Given the description of an element on the screen output the (x, y) to click on. 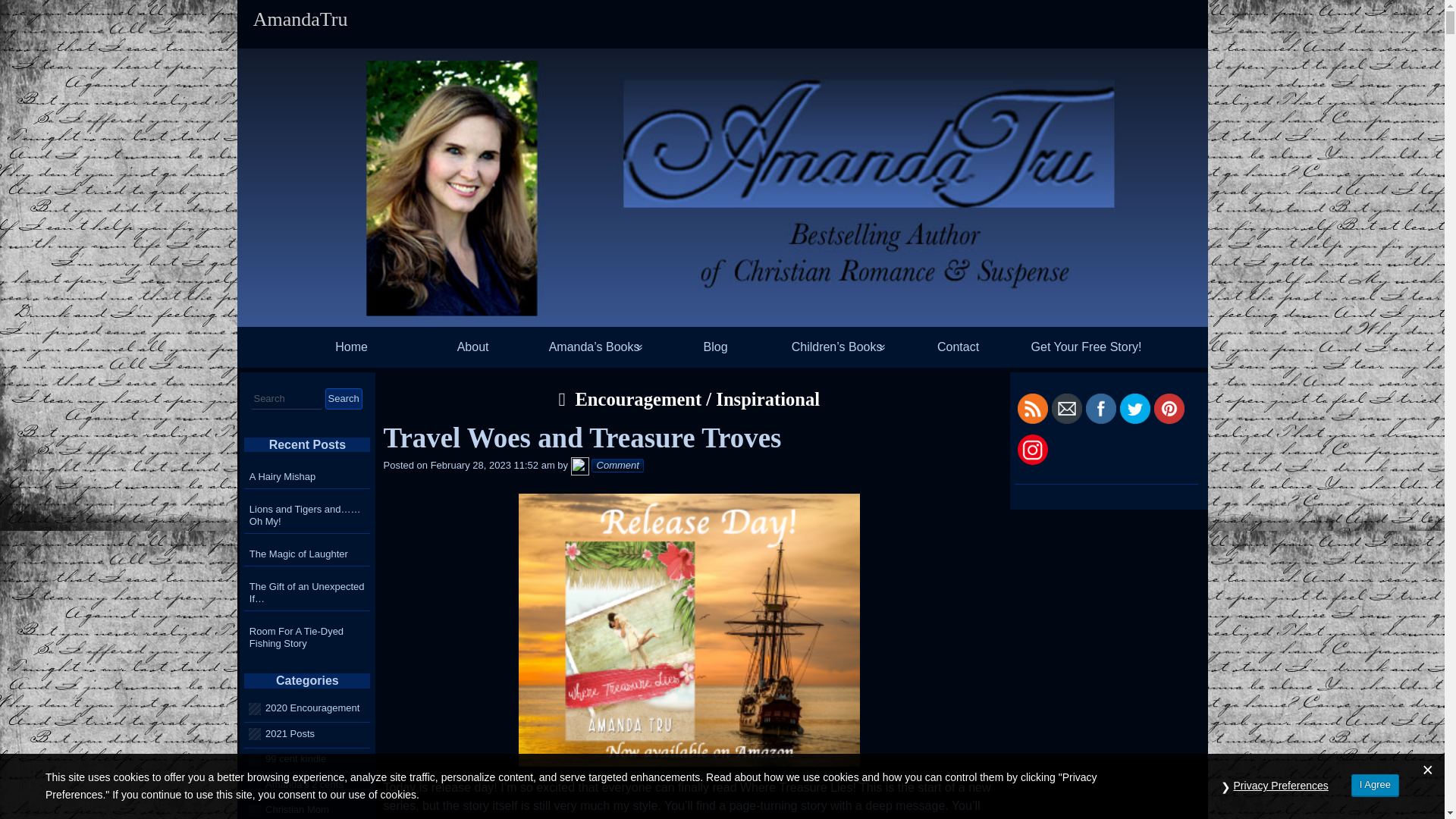
Pinterest (1169, 408)
Instagram (1032, 449)
Twitter (1134, 408)
Follow by Email (1066, 408)
Search (342, 398)
must not contain html tags (285, 399)
Facebook (1101, 408)
Tru Exceptions Series (595, 398)
Home (351, 346)
RSS (1032, 408)
